Given the description of an element on the screen output the (x, y) to click on. 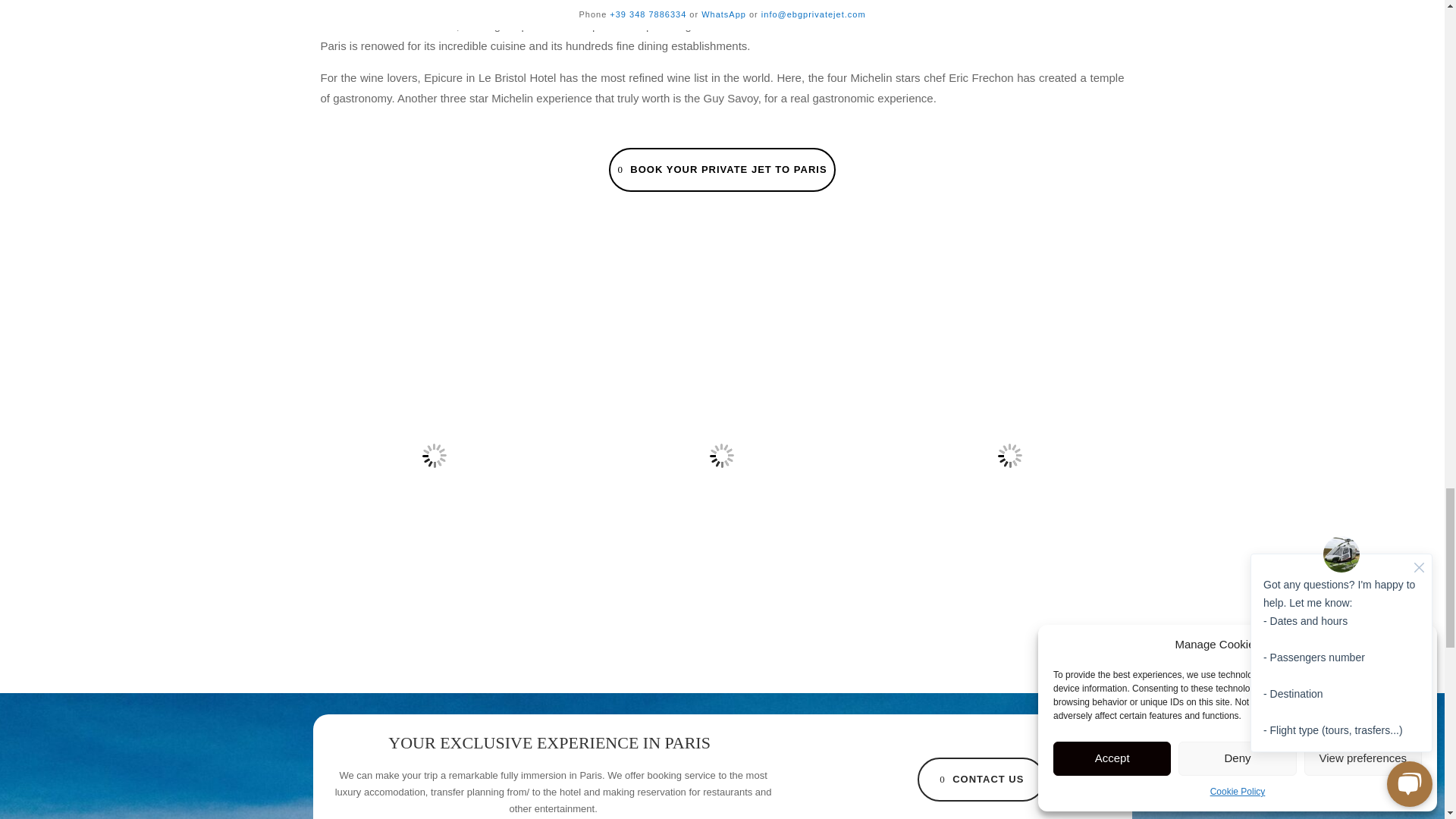
CONTACT US (981, 779)
BOOK YOUR PRIVATE JET TO PARIS (721, 169)
